Given the description of an element on the screen output the (x, y) to click on. 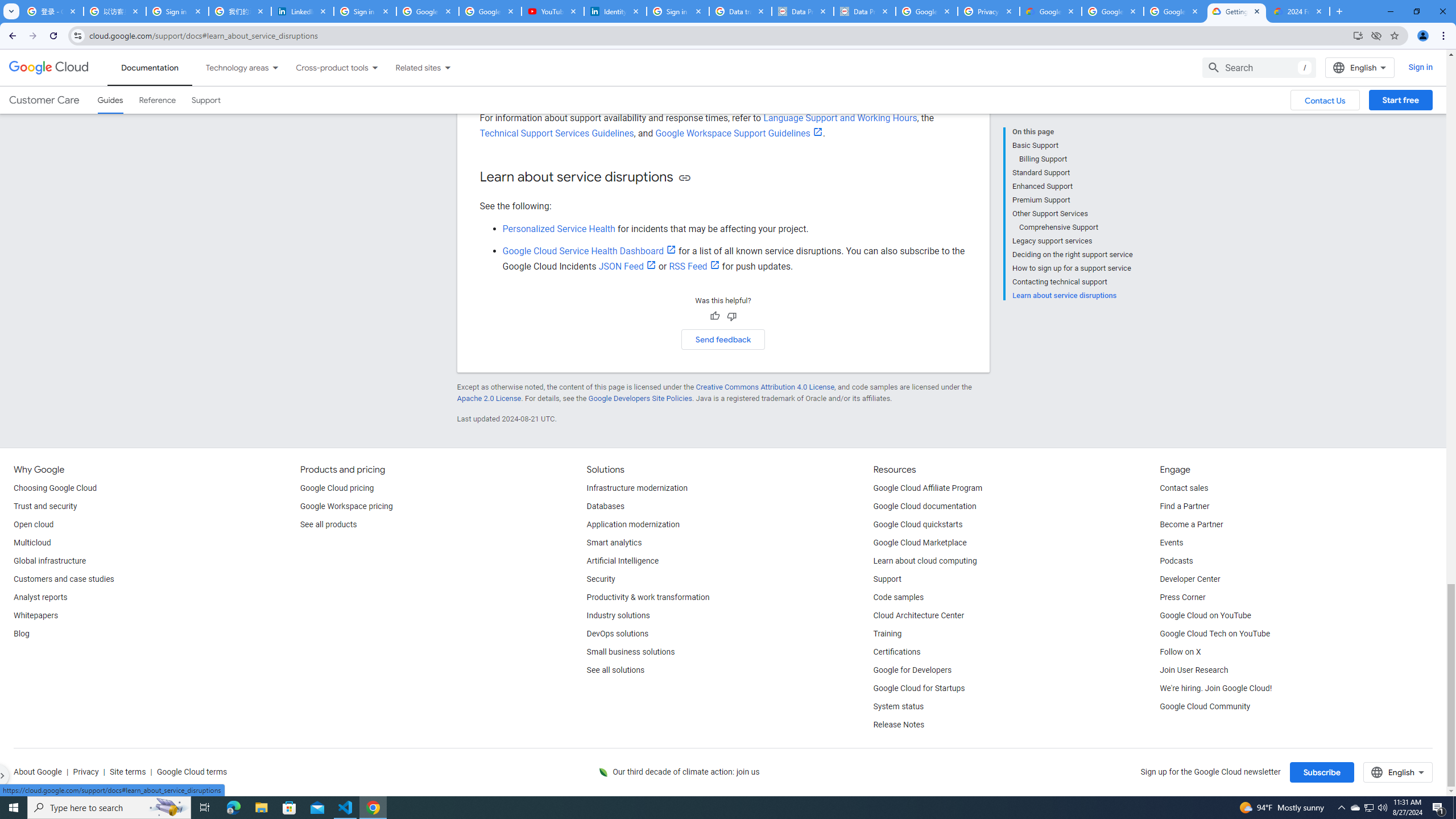
JSON Feed (627, 266)
We're hiring. Join Google Cloud! (1215, 688)
Databases (605, 506)
Application modernization (632, 524)
Google Developers Site Policies (639, 397)
DevOps solutions (617, 633)
Open cloud (33, 524)
Press Corner (1181, 597)
Artificial Intelligence (622, 561)
Google Workspace - Specific Terms (1174, 11)
Contact Us (1324, 100)
Other Support Services (1071, 213)
Related sites (411, 67)
